Given the description of an element on the screen output the (x, y) to click on. 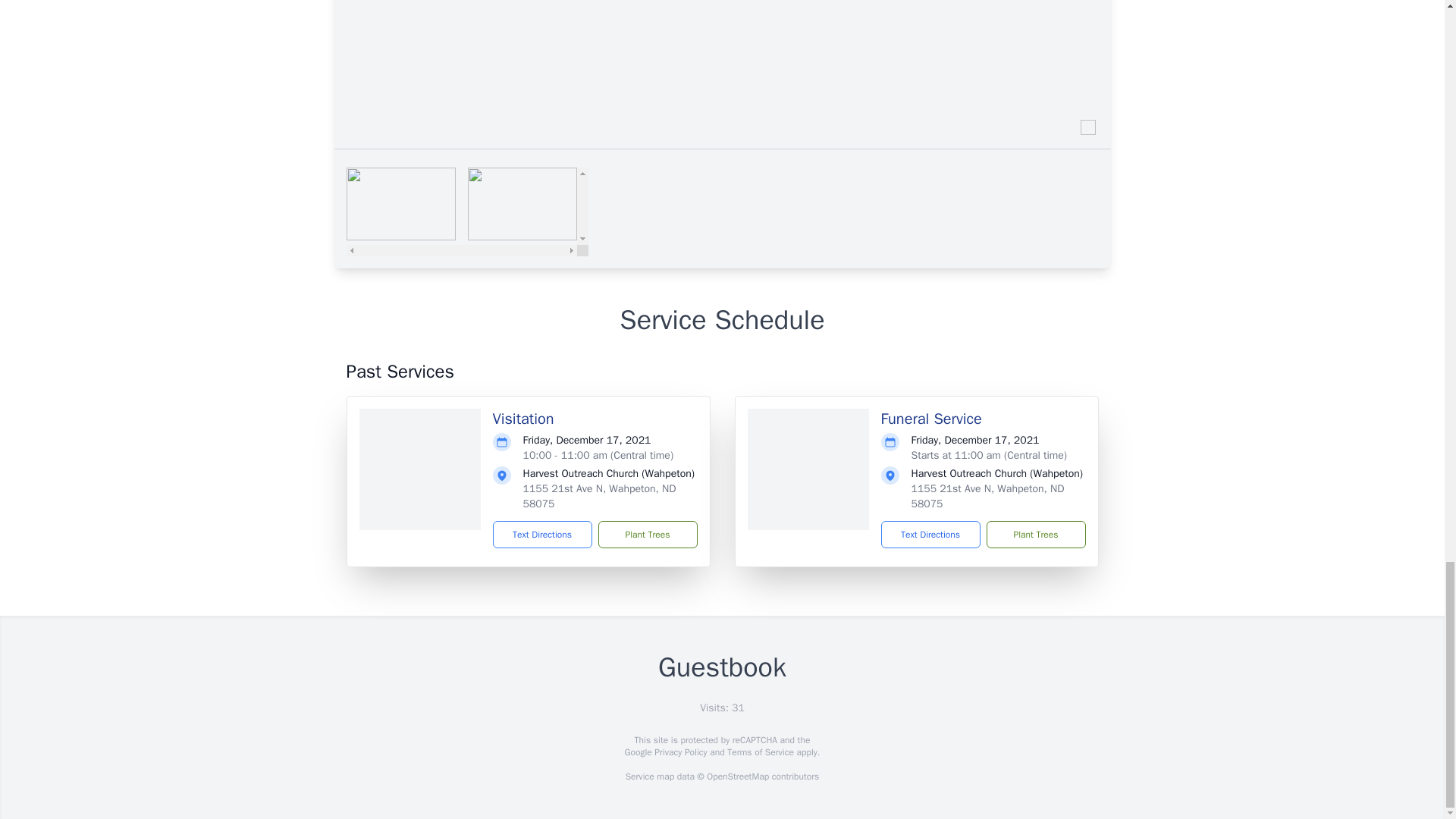
Terms of Service (759, 752)
Text Directions (542, 533)
Plant Trees (1034, 533)
OpenStreetMap (737, 776)
1155 21st Ave N, Wahpeton, ND 58075 (987, 496)
Text Directions (929, 533)
Plant Trees (646, 533)
Privacy Policy (679, 752)
1155 21st Ave N, Wahpeton, ND 58075 (599, 496)
